Given the description of an element on the screen output the (x, y) to click on. 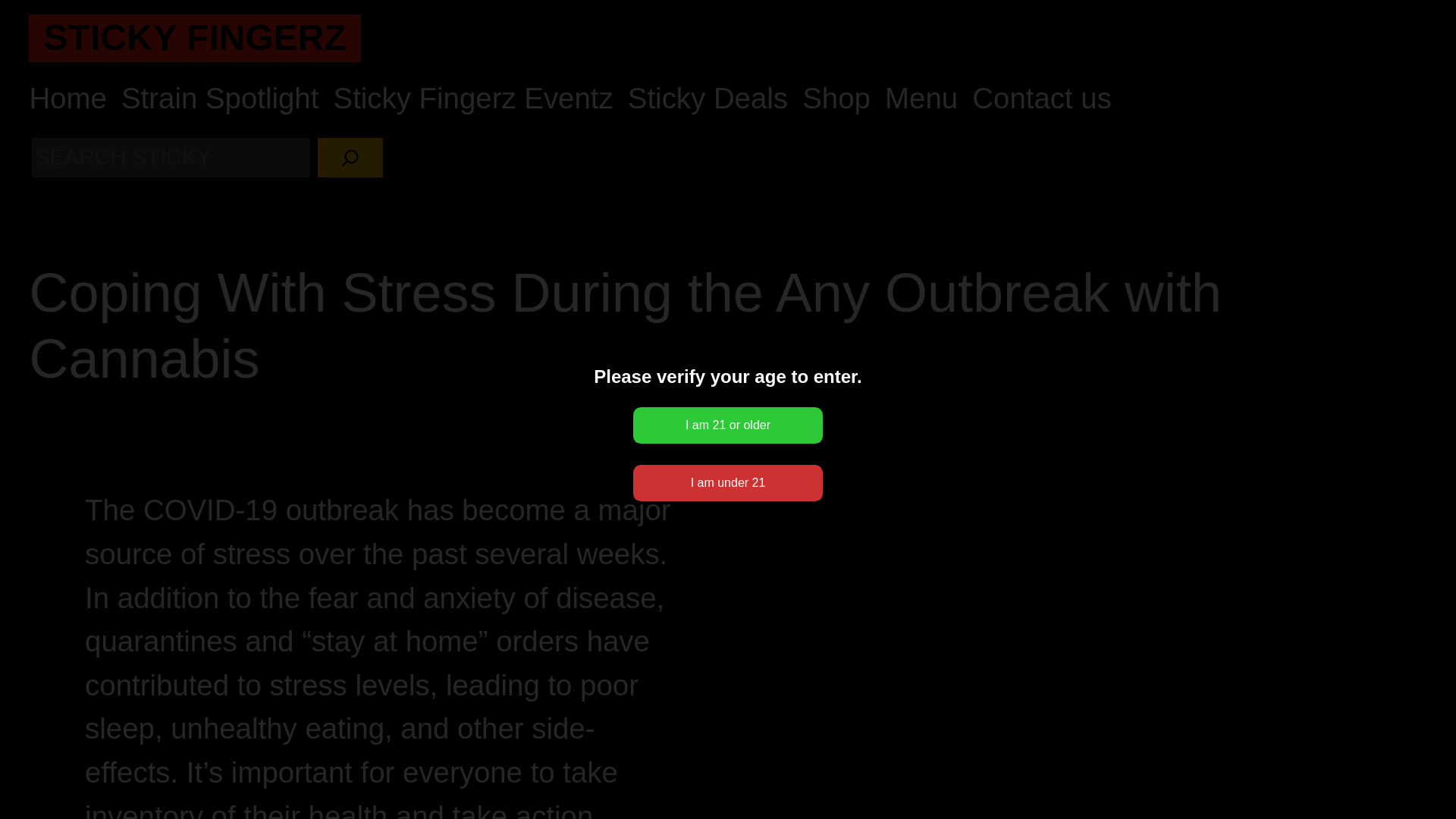
I am under 21 (727, 483)
Sticky Deals (707, 98)
Strain Spotlight (219, 98)
I am 21 or older (727, 425)
Contact us (1042, 98)
Menu (921, 98)
Shop (836, 98)
STICKY FINGERZ (194, 37)
Sticky Fingerz Eventz (472, 98)
Home (67, 98)
